Given the description of an element on the screen output the (x, y) to click on. 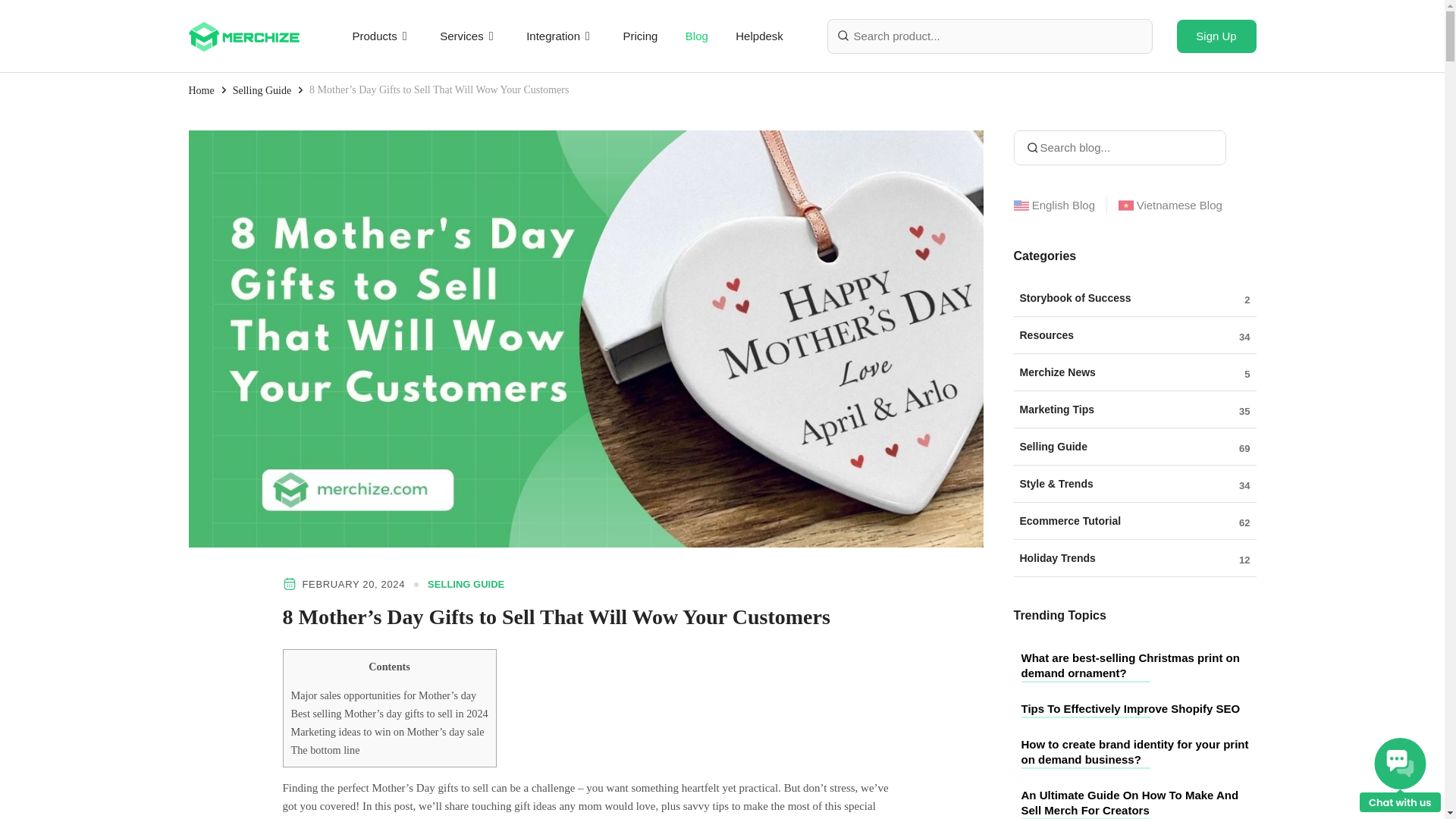
Home (200, 89)
Selling Guide (261, 89)
